Given the description of an element on the screen output the (x, y) to click on. 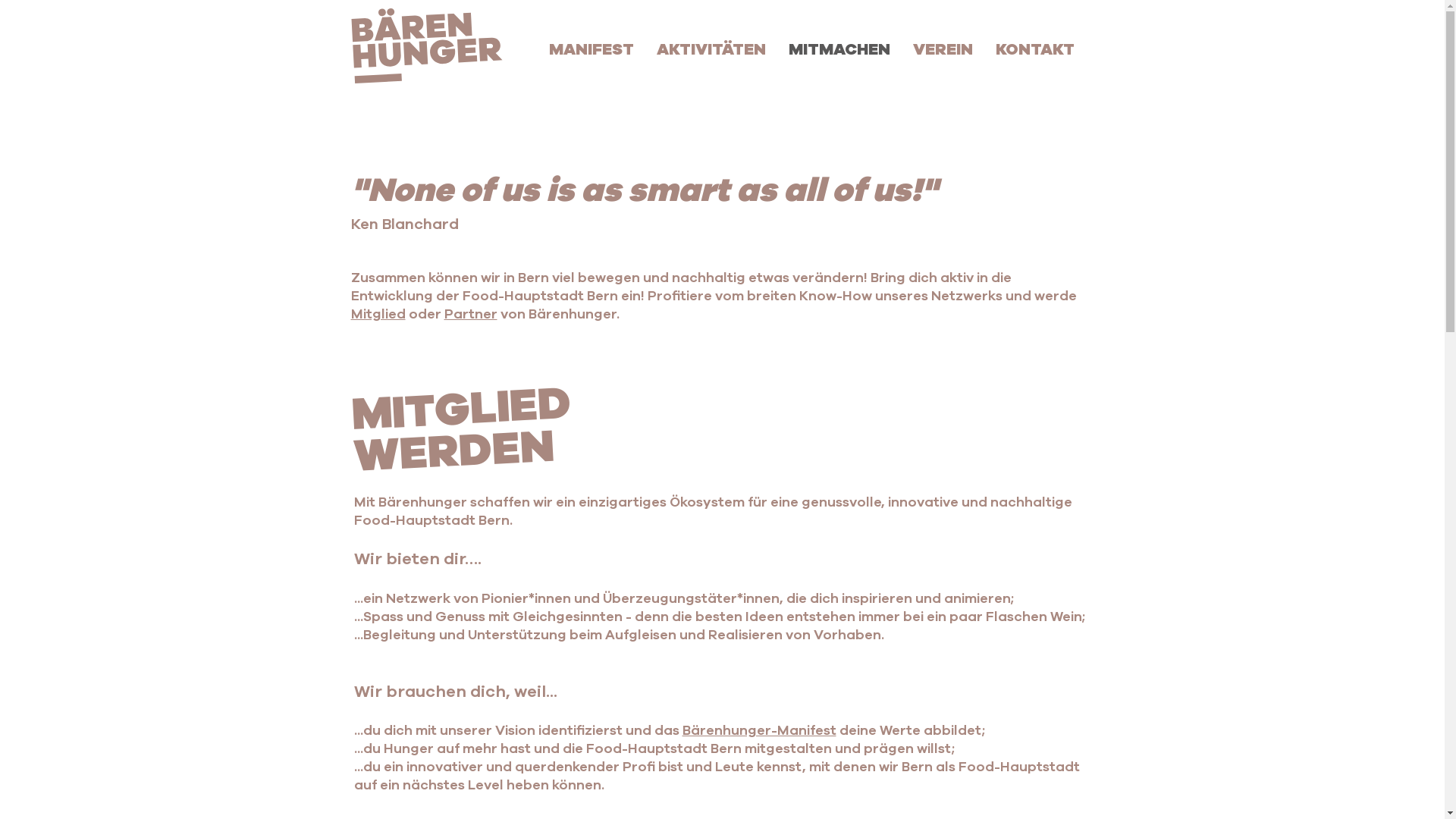
MITMACHEN Element type: text (838, 49)
MANIFEST Element type: text (590, 49)
KONTAKT Element type: text (1034, 49)
Mitglied Element type: text (377, 313)
Partner Element type: text (470, 313)
VEREIN Element type: text (941, 49)
